Given the description of an element on the screen output the (x, y) to click on. 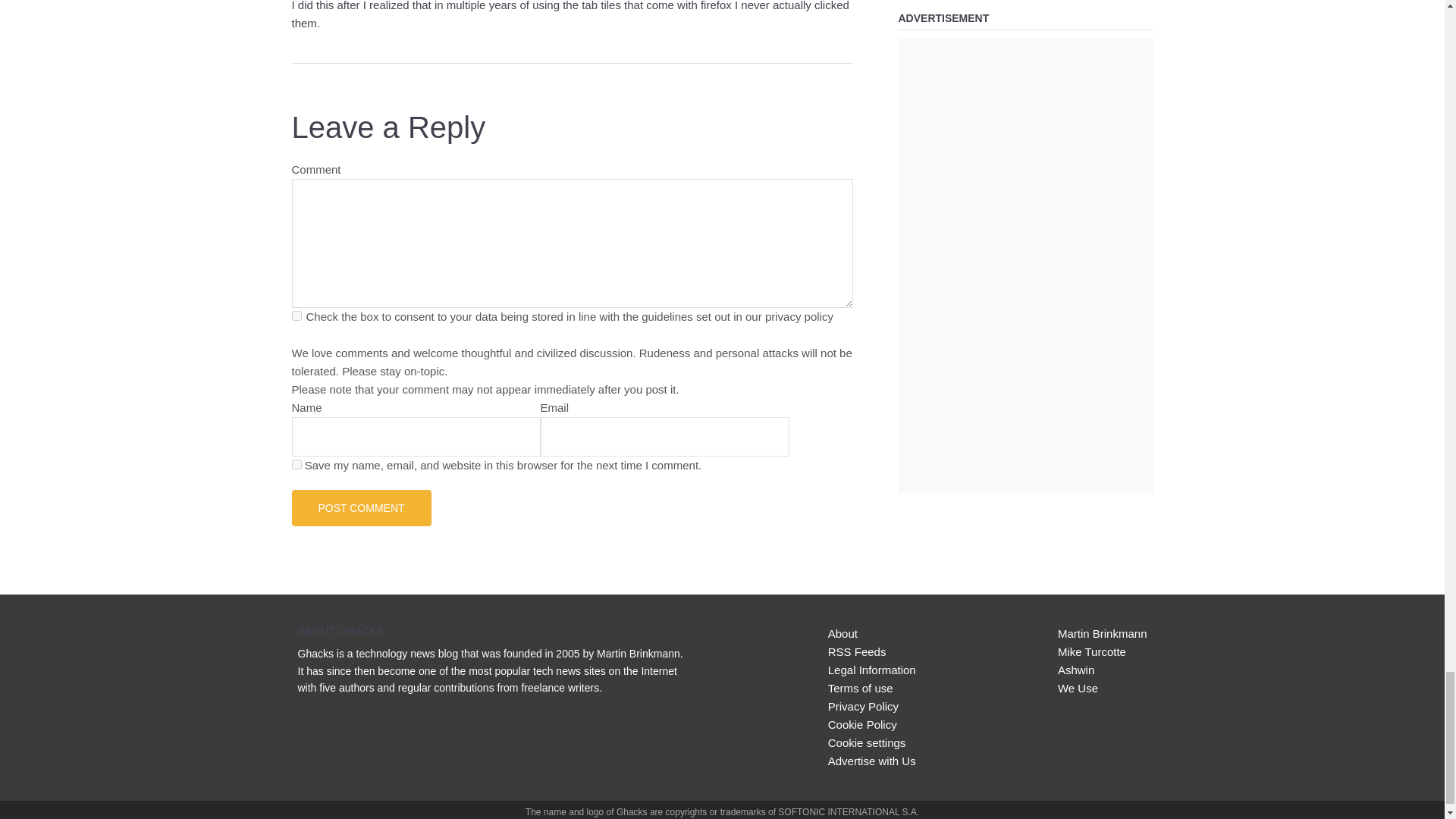
Post Comment (360, 507)
yes (296, 464)
privacy-key (296, 316)
